Given the description of an element on the screen output the (x, y) to click on. 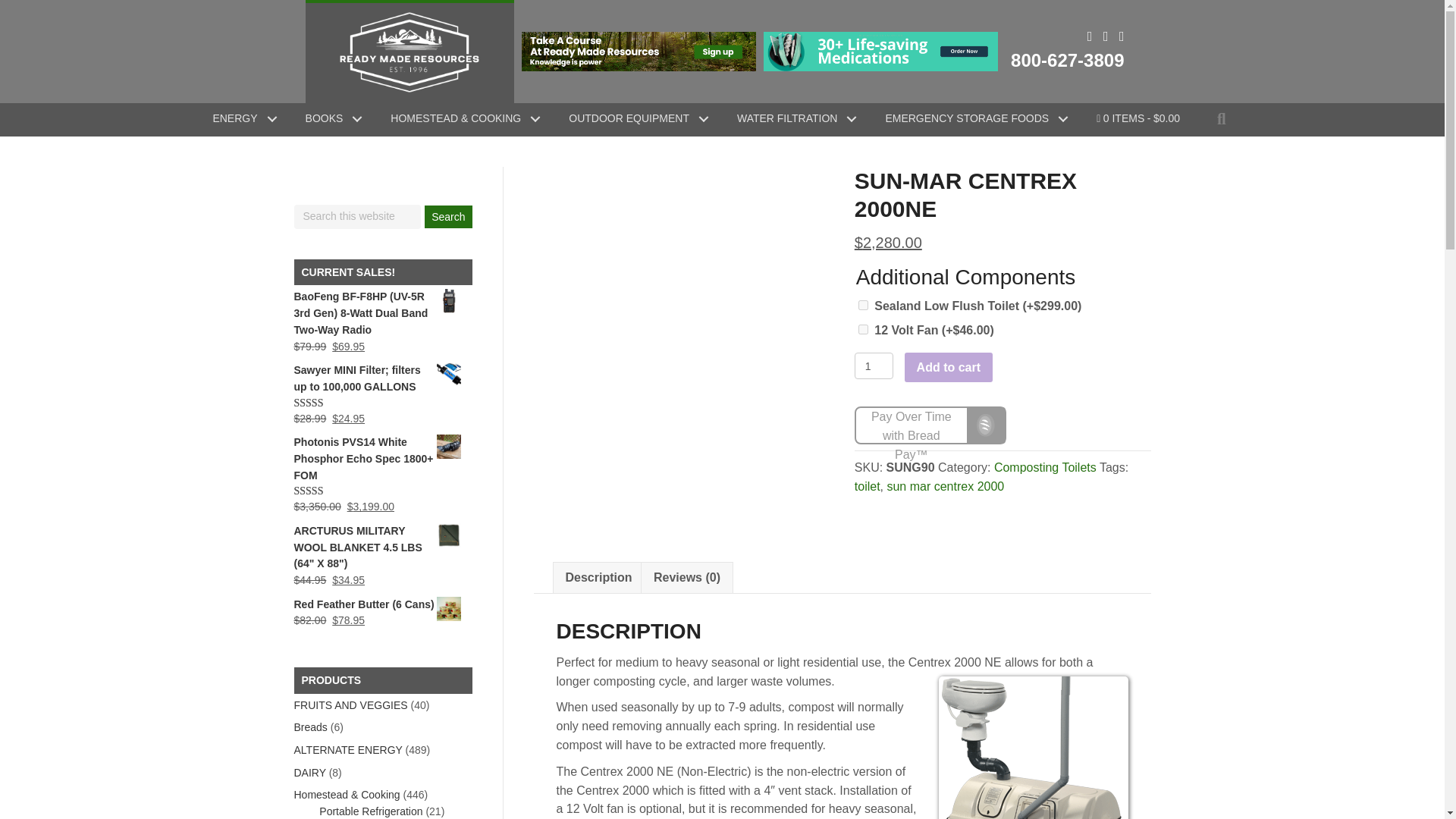
800-627-3809 (1067, 59)
1 (873, 365)
sealand-low-flush-toilet (863, 305)
New RMR Logo White Text No Background Trimmed (408, 52)
Start shopping (1138, 119)
12-volt-fan (863, 329)
ENERGY (239, 119)
Take a Course At RMR (638, 51)
Readymaderesources.com Banner Final (879, 51)
